Given the description of an element on the screen output the (x, y) to click on. 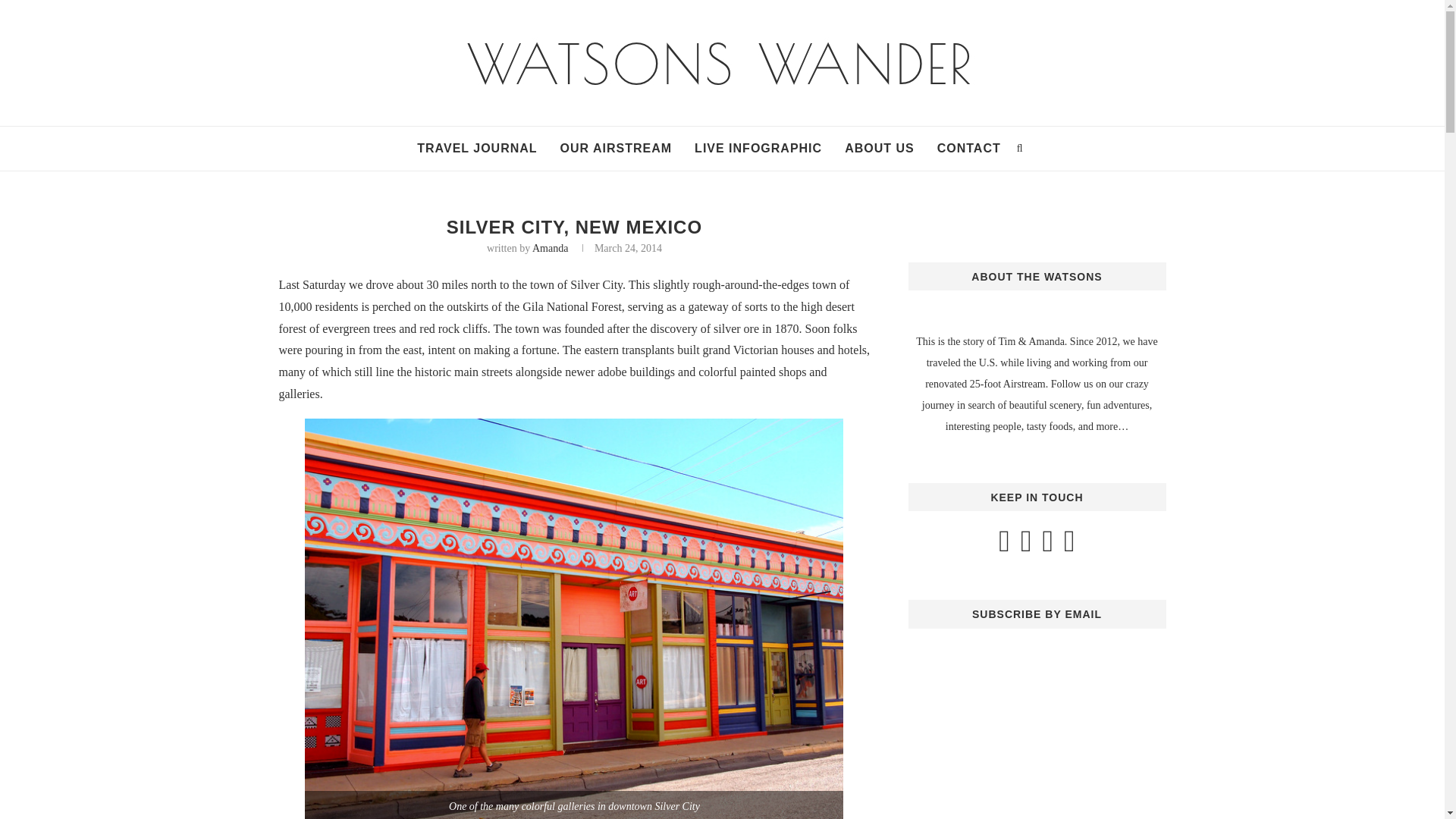
LIVE INFOGRAPHIC (758, 148)
TRAVEL JOURNAL (476, 148)
Amanda (549, 247)
OUR AIRSTREAM (616, 148)
ABOUT US (879, 148)
CONTACT (969, 148)
